Given the description of an element on the screen output the (x, y) to click on. 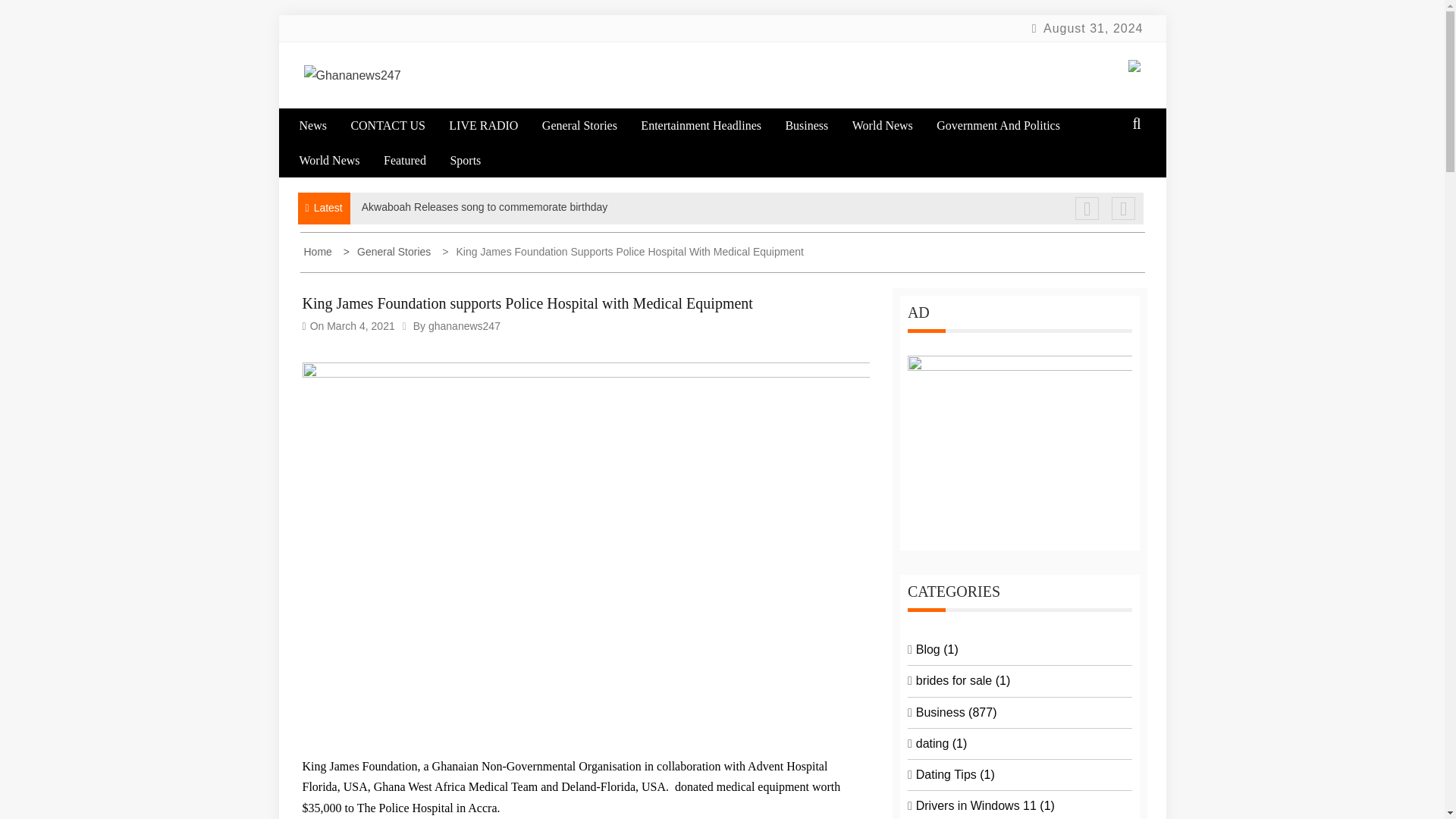
General Stories (589, 125)
Entertainment Headlines (710, 125)
Home (318, 251)
CONTACT US (397, 125)
ghananews247 (464, 326)
World News (339, 160)
LIVE RADIO (493, 125)
General Stories (388, 251)
News (322, 125)
